Given the description of an element on the screen output the (x, y) to click on. 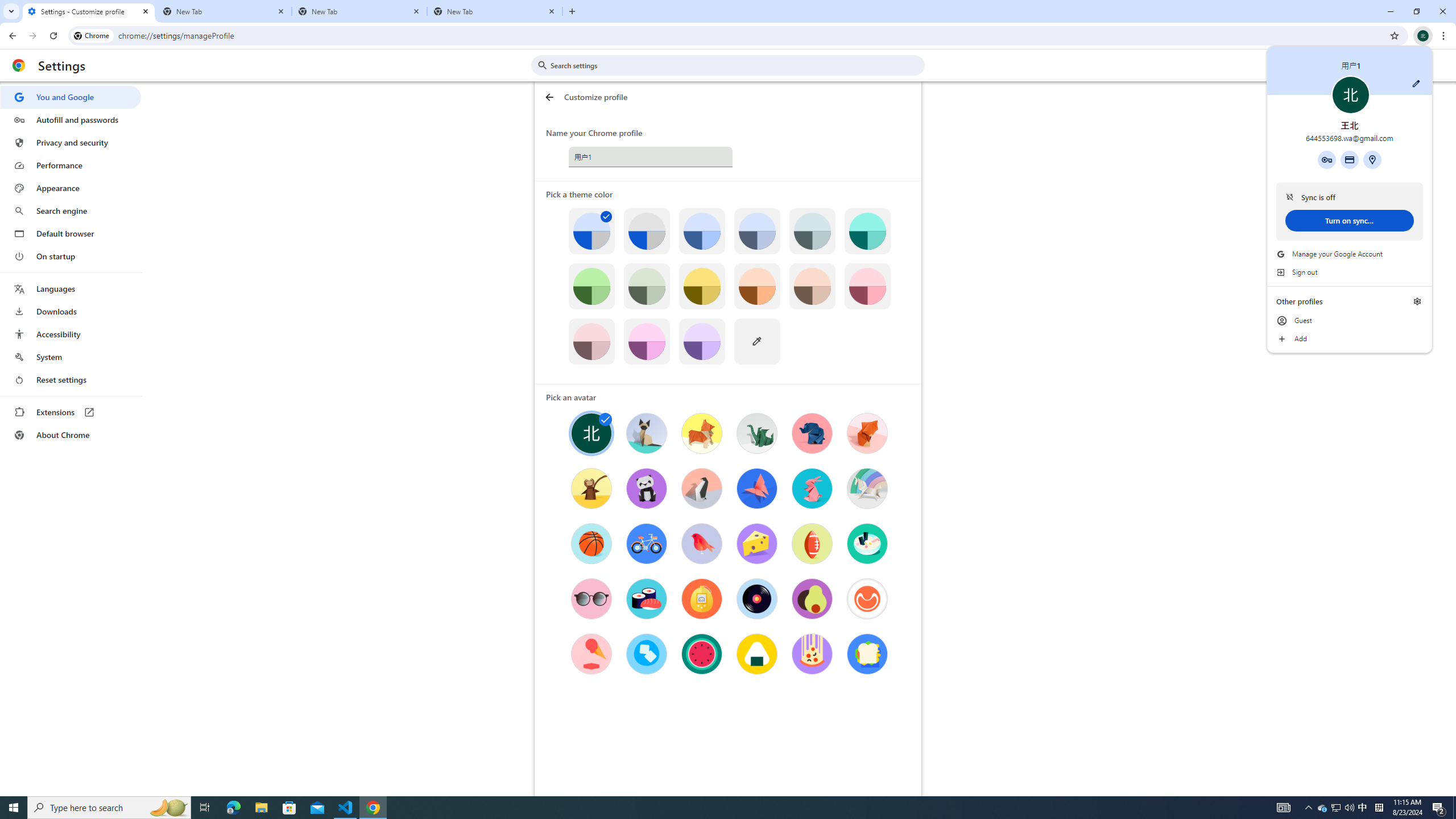
Manage profiles (1335, 807)
New Tab (1417, 301)
Settings - Customize profile (494, 11)
Privacy and security (88, 11)
